Given the description of an element on the screen output the (x, y) to click on. 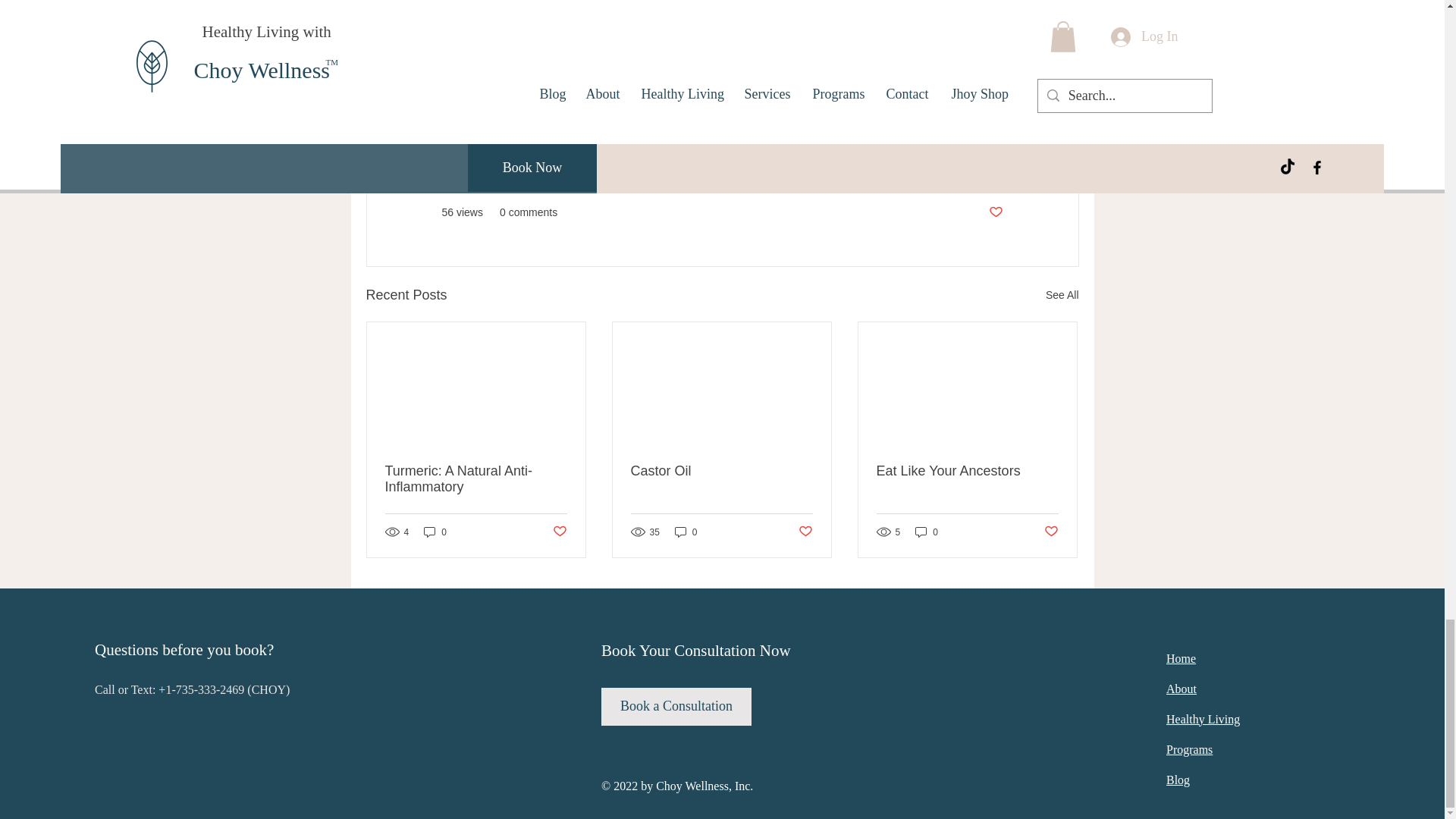
Diabetes (964, 80)
Post not marked as liked (995, 212)
Weight loss (724, 80)
Blood Sugar (889, 80)
Homeostasis (481, 109)
Ozempic (650, 80)
Medications (806, 80)
Healthy Eating (485, 80)
Healthy Diet (575, 80)
See All (1061, 295)
